Given the description of an element on the screen output the (x, y) to click on. 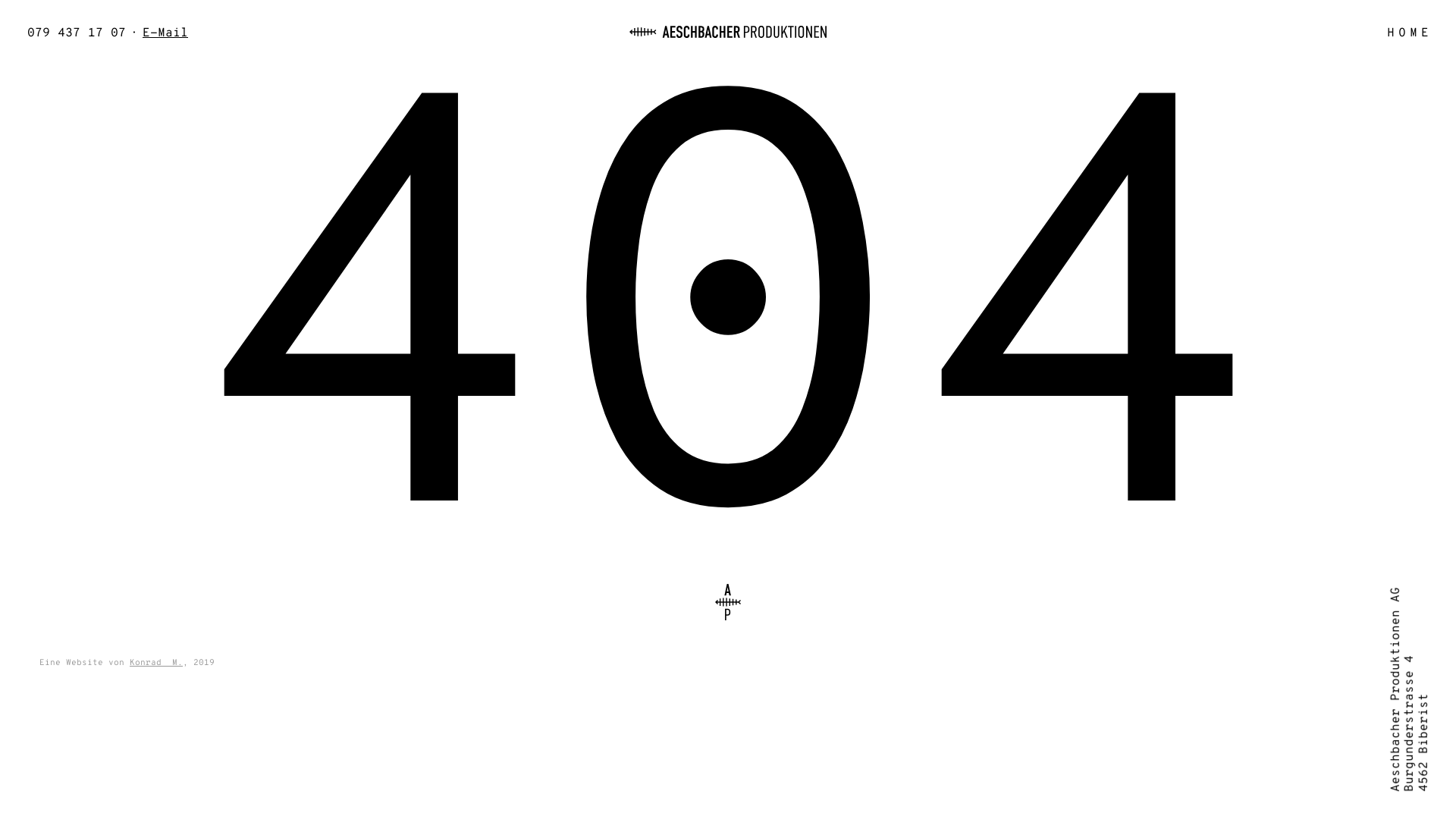
Konrad  M. Element type: text (155, 662)
HOME Element type: text (1409, 32)
E-Mail Element type: text (167, 32)
079 437 17 07 Element type: text (74, 32)
